Given the description of an element on the screen output the (x, y) to click on. 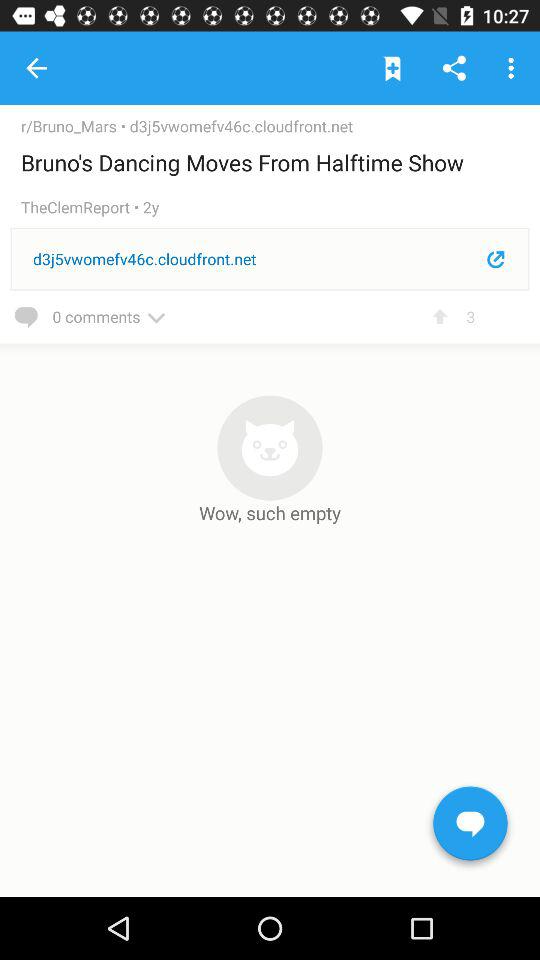
turn on the icon next to the d3j5vwomefv46c.cloudfront.net item (75, 125)
